Given the description of an element on the screen output the (x, y) to click on. 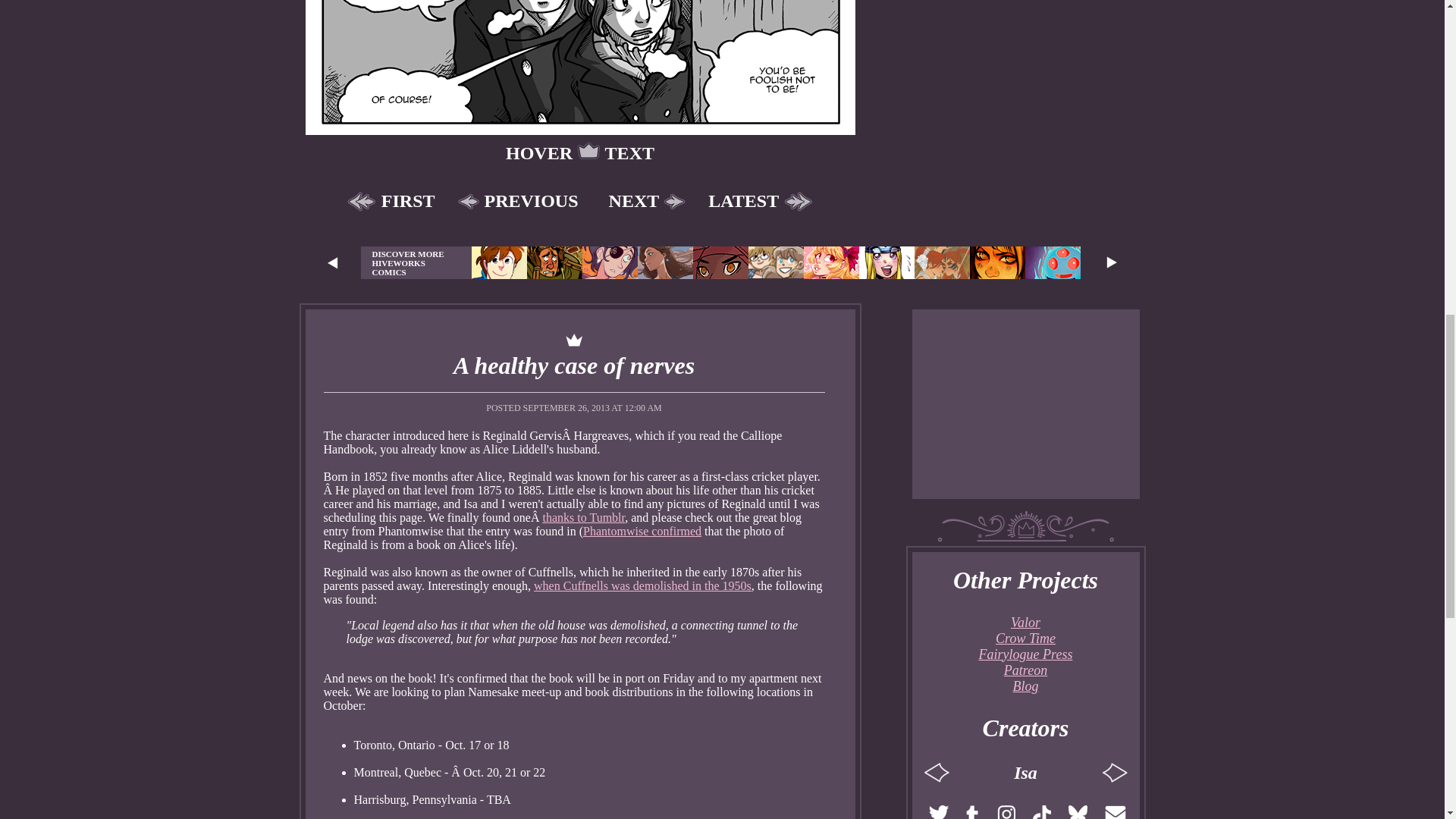
PREVIOUS (522, 201)
DISCOVER MORE HIVEWORKS COMICS (415, 262)
LATEST (756, 201)
FIRST (394, 201)
NEXT (643, 201)
This scene takes place a year after Intermission 2. (579, 67)
